Given the description of an element on the screen output the (x, y) to click on. 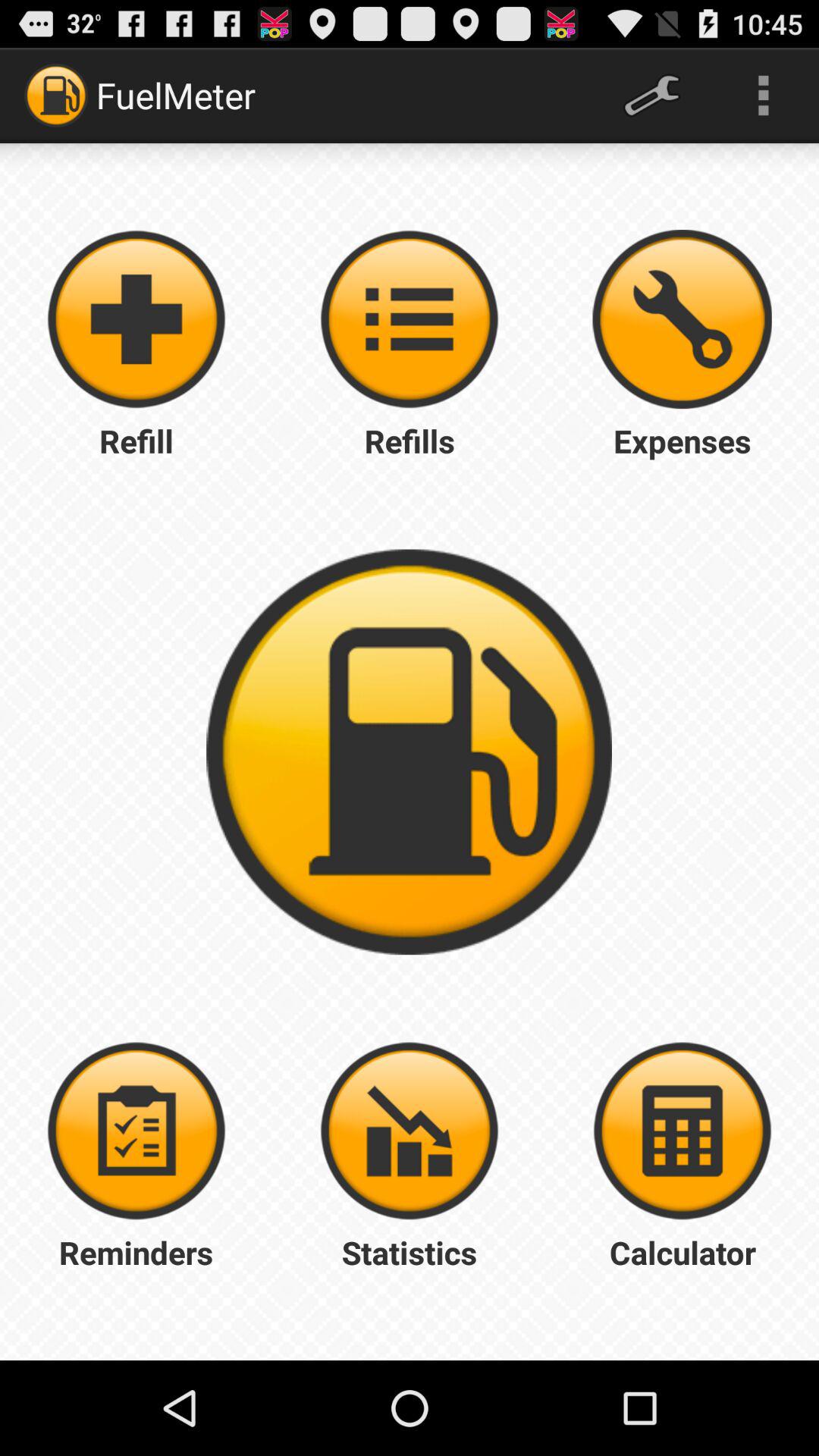
press item to the right of fuelmeter (651, 95)
